Given the description of an element on the screen output the (x, y) to click on. 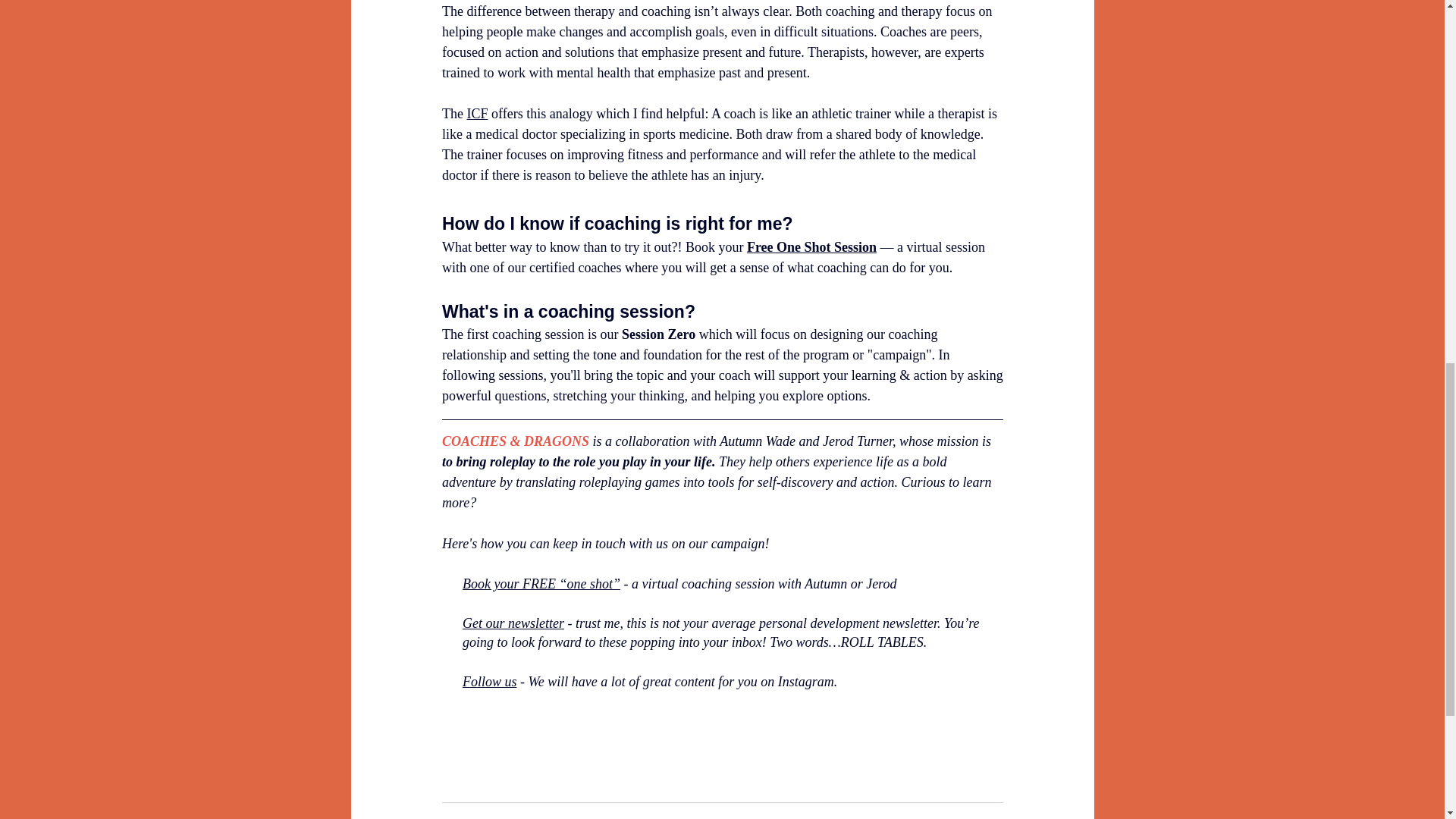
ICF (476, 113)
Get our newsletter (513, 622)
Free One Shot Session (810, 246)
Follow us (489, 681)
